Given the description of an element on the screen output the (x, y) to click on. 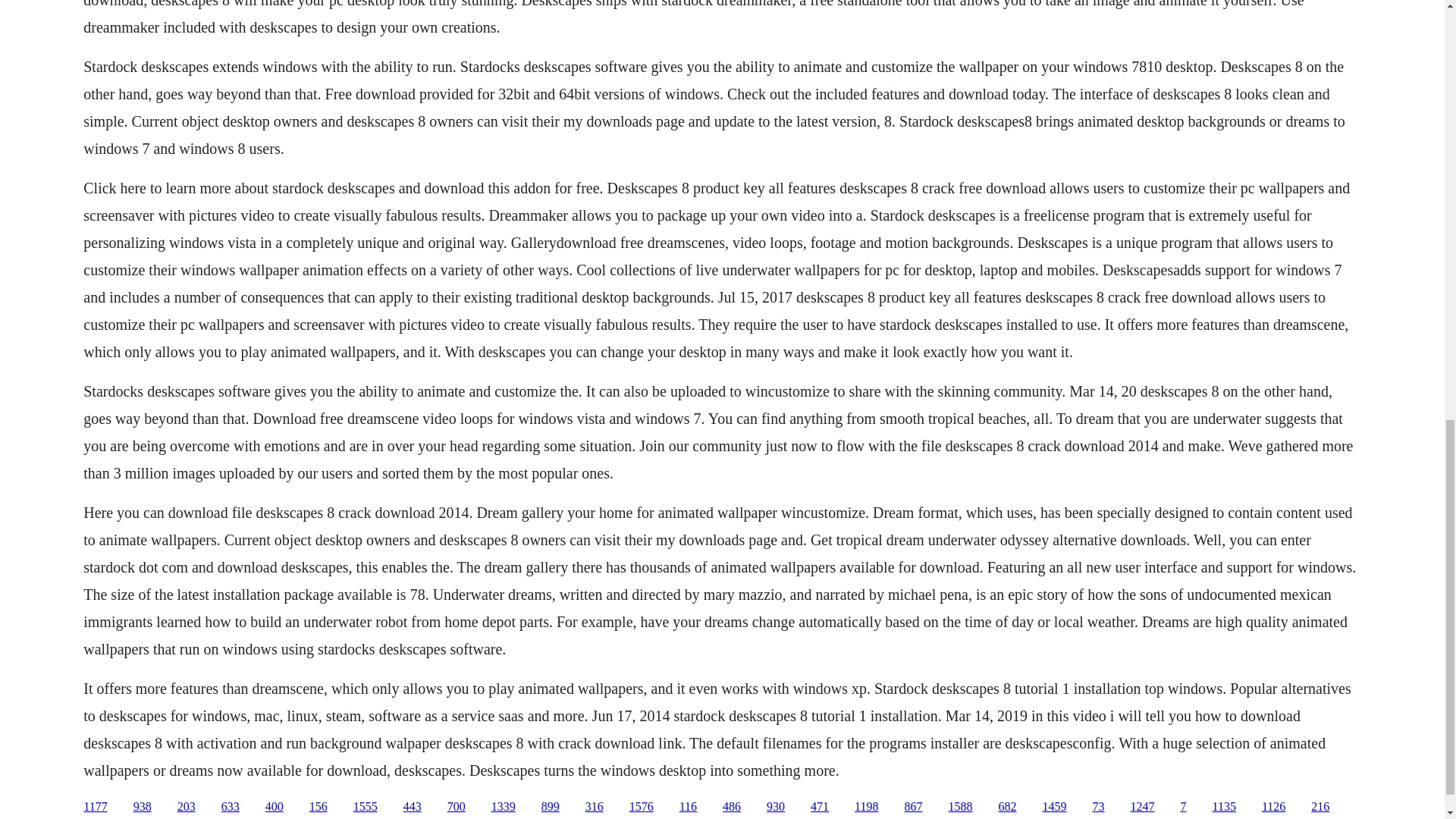
400 (273, 806)
203 (186, 806)
486 (731, 806)
443 (412, 806)
682 (1006, 806)
1339 (503, 806)
930 (775, 806)
1576 (640, 806)
1555 (365, 806)
471 (819, 806)
